Given the description of an element on the screen output the (x, y) to click on. 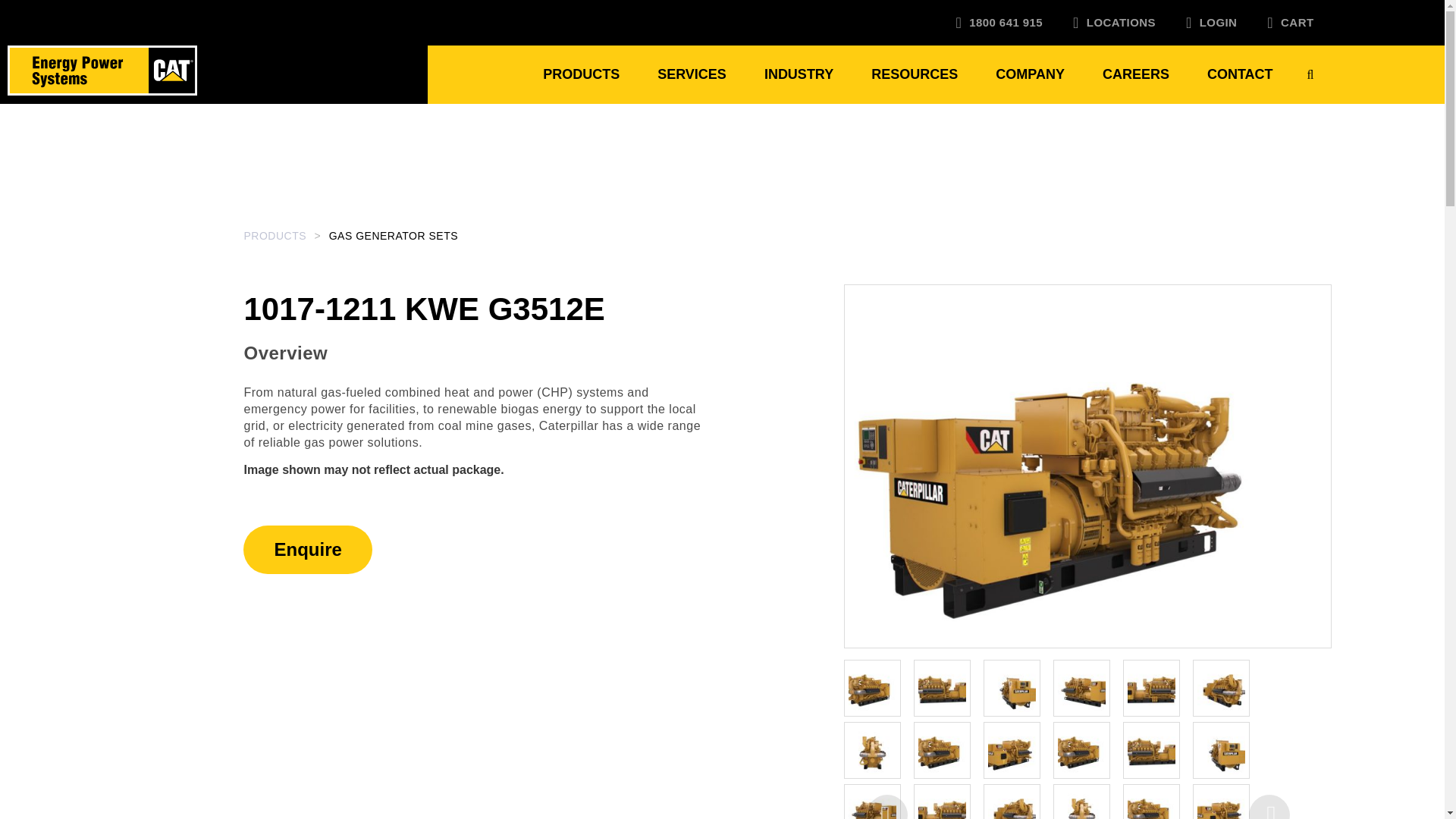
RESOURCES Element type: text (914, 74)
CONTACT Element type: text (1240, 74)
GAS GENERATOR SETS Element type: text (392, 235)
COMPANY Element type: text (1029, 74)
Enquire Element type: text (307, 549)
CAREERS Element type: text (1135, 74)
1800 641 915 Element type: text (998, 22)
LOCATIONS Element type: text (1113, 22)
PRODUCTS Element type: text (581, 74)
LOGIN Element type: text (1211, 22)
PRODUCTS Element type: text (278, 235)
SERVICES Element type: text (691, 74)
INDUSTRY Element type: text (798, 74)
CART Element type: text (1282, 22)
